Given the description of an element on the screen output the (x, y) to click on. 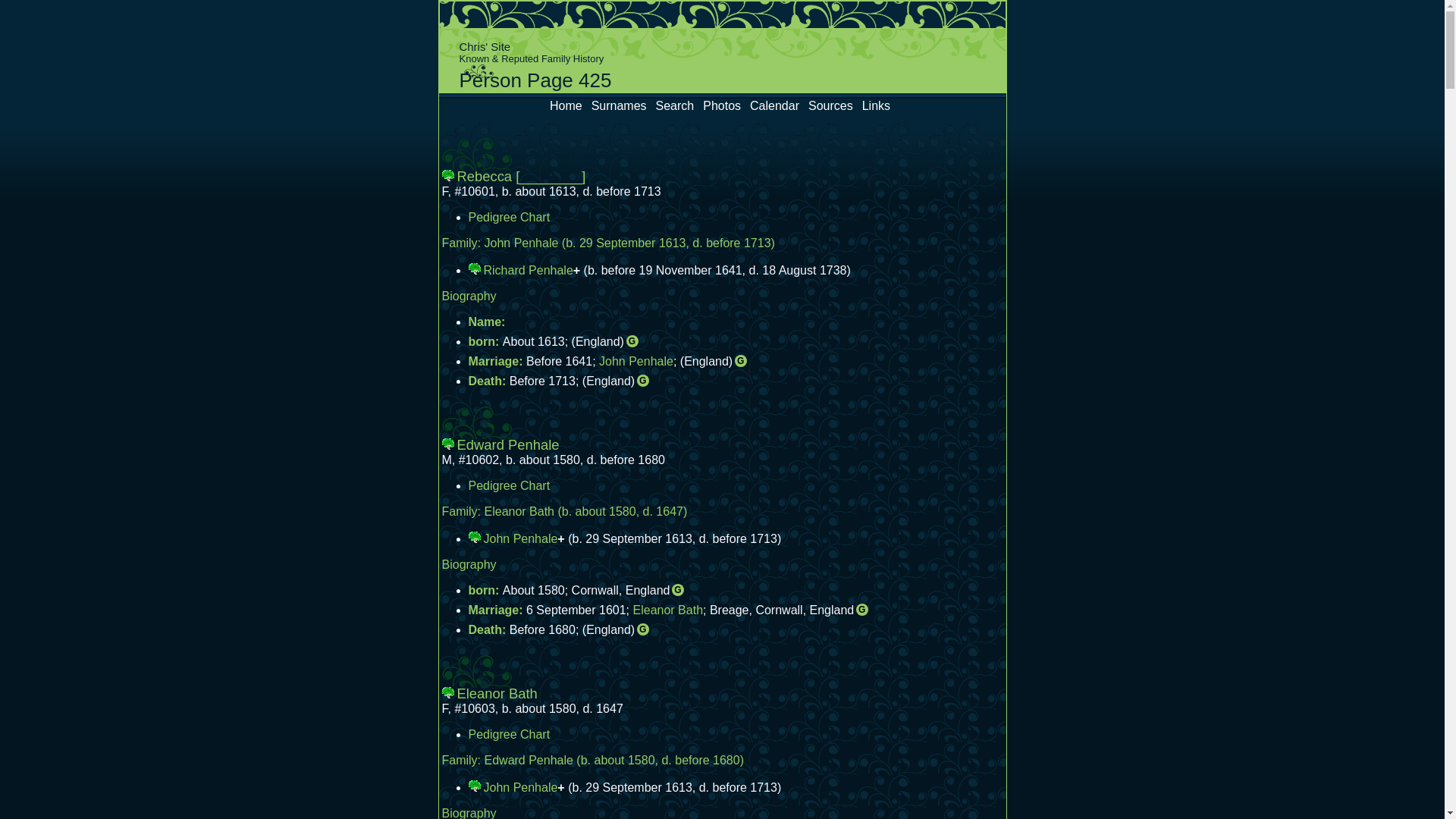
Pedigree Chart Element type: text (509, 734)
Pedigree Chart Element type: text (509, 485)
Direct family line Element type: hover (448, 692)
John Penhale Element type: text (520, 538)
Links Element type: text (875, 106)
Direct family line Element type: hover (475, 785)
Direct family line Element type: hover (475, 536)
Photos Element type: text (721, 106)
Edward Penhale Element type: text (527, 759)
G Element type: text (643, 380)
G Element type: text (677, 589)
Direct family line Element type: hover (448, 443)
Sources Element type: text (830, 106)
Calendar Element type: text (774, 106)
Search Element type: text (674, 106)
John Penhale Element type: text (636, 360)
Pedigree Chart Element type: text (509, 216)
Eleanor Bath Element type: text (518, 511)
Direct family line Element type: hover (475, 268)
John Penhale Element type: text (520, 242)
G Element type: text (632, 341)
John Penhale Element type: text (520, 787)
G Element type: text (643, 629)
Eleanor Bath Element type: text (668, 609)
G Element type: text (862, 609)
G Element type: text (740, 360)
Direct family line Element type: hover (448, 175)
Home Element type: text (565, 106)
Surnames Element type: text (619, 106)
Richard Penhale Element type: text (528, 269)
